Given the description of an element on the screen output the (x, y) to click on. 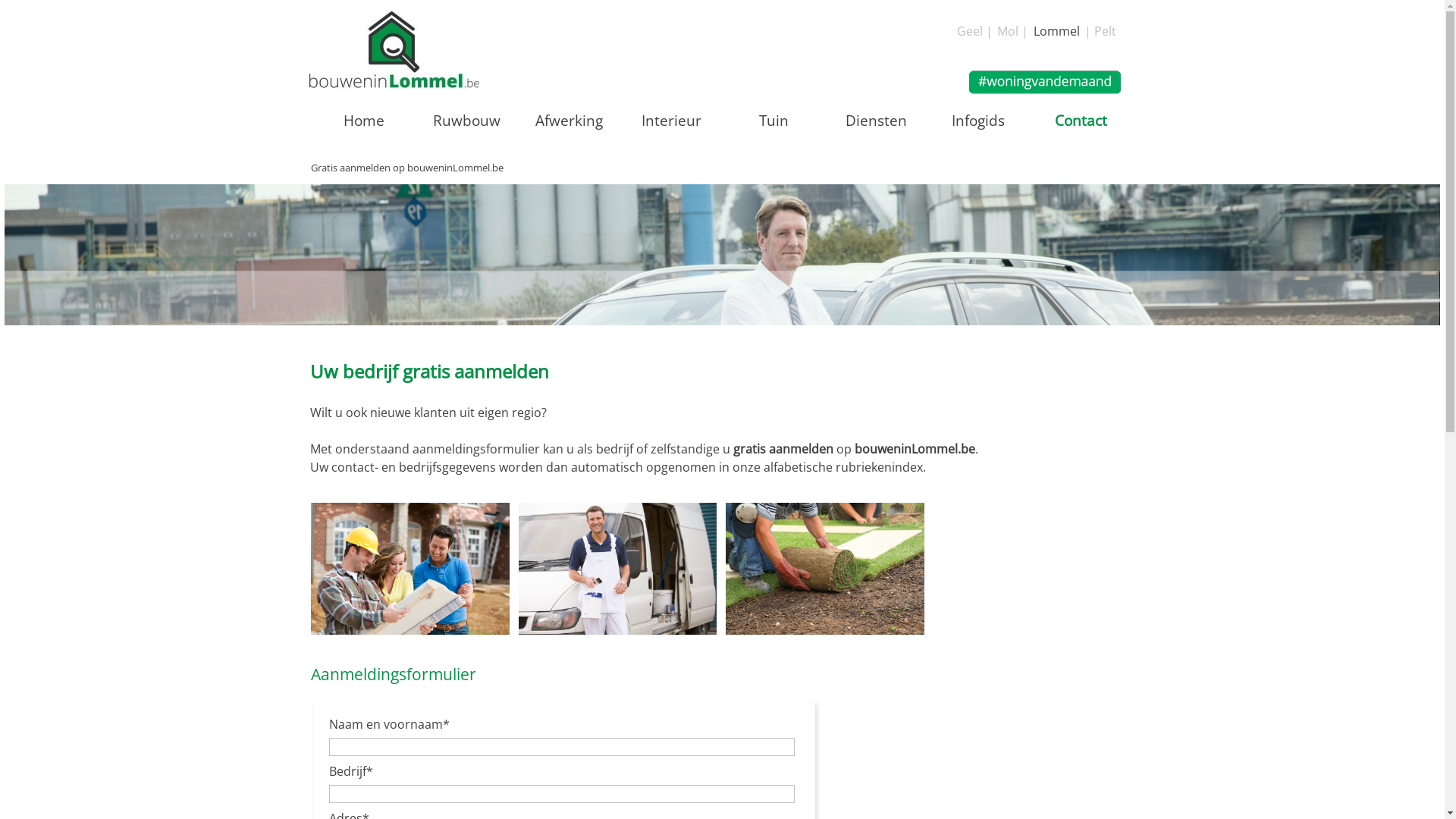
Bouwbedrijf Lommel Element type: hover (409, 568)
Verf en behang Lommel Element type: hover (617, 568)
| Pelt Element type: text (1100, 30)
Home Element type: text (363, 120)
Tuinen Lommel Element type: hover (824, 568)
Geel | Element type: text (974, 30)
Mol | Element type: text (1011, 30)
